Given the description of an element on the screen output the (x, y) to click on. 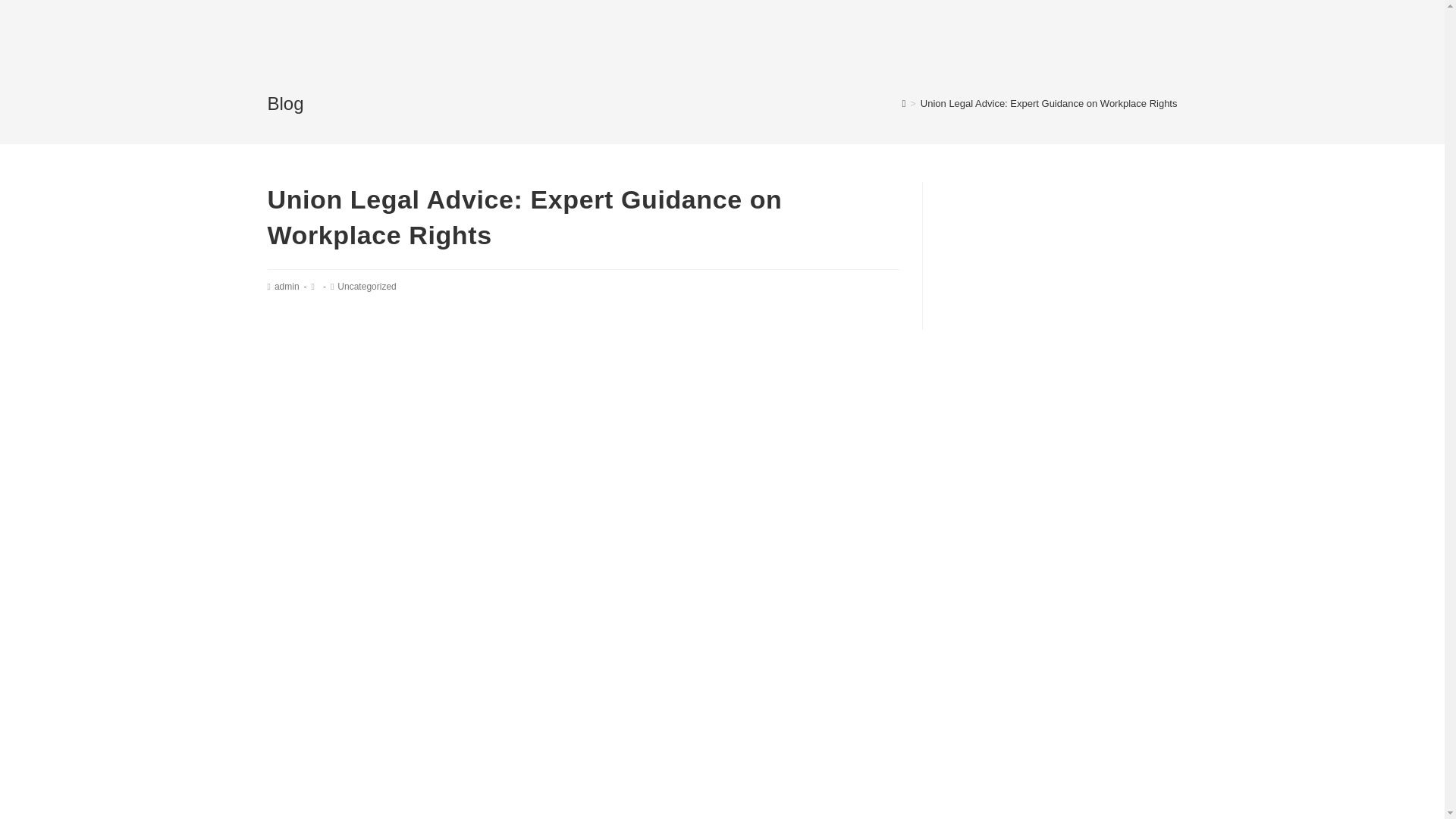
Union Legal Advice: Expert Guidance on Workplace Rights (1048, 102)
admin (287, 286)
Posts by admin (287, 286)
